Given the description of an element on the screen output the (x, y) to click on. 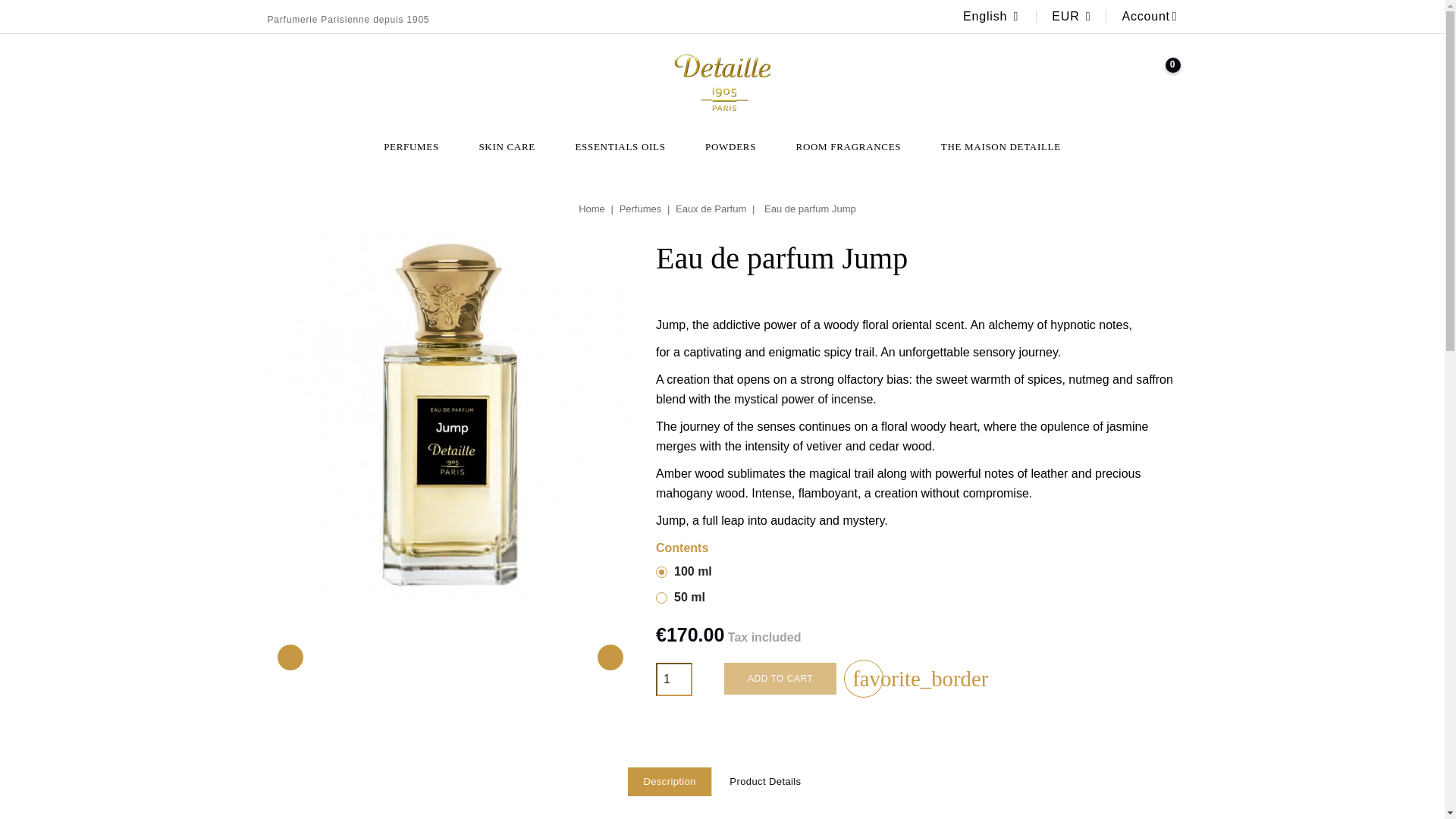
Product Details (764, 781)
THE MAISON DETAILLE (1000, 146)
ADD TO CART (779, 678)
Eau de parfum Jump (810, 208)
Perfumes (641, 208)
Description (668, 781)
PERFUMES (411, 146)
SKIN CARE (506, 146)
Eaux de Parfum (712, 208)
ESSENTIALS OILS (619, 146)
